Given the description of an element on the screen output the (x, y) to click on. 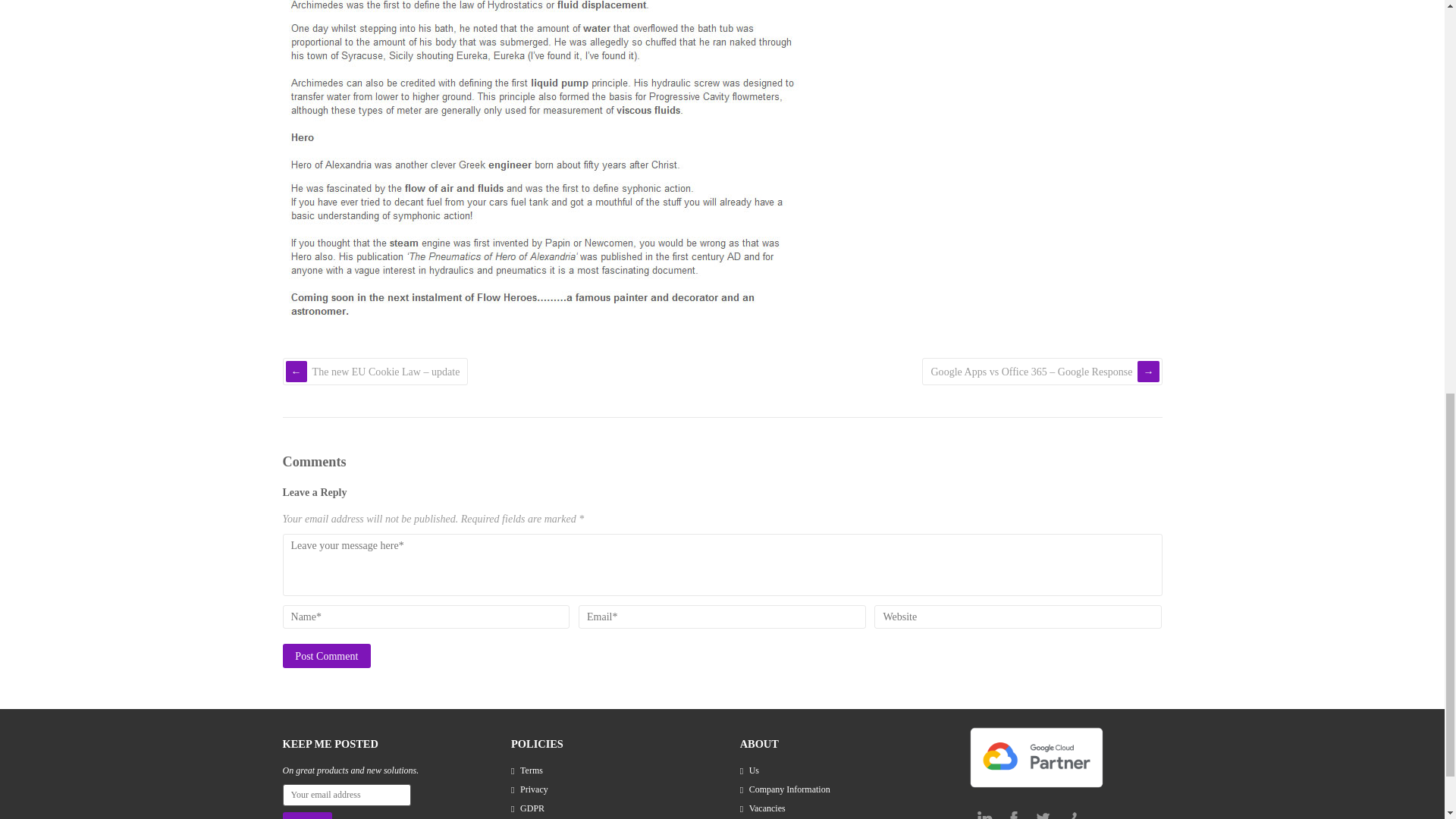
Twitter (1042, 812)
Facebook (1013, 812)
Post Comment (326, 655)
LinkedIn (984, 812)
Sign up (306, 815)
Yahoo (1071, 812)
